Given the description of an element on the screen output the (x, y) to click on. 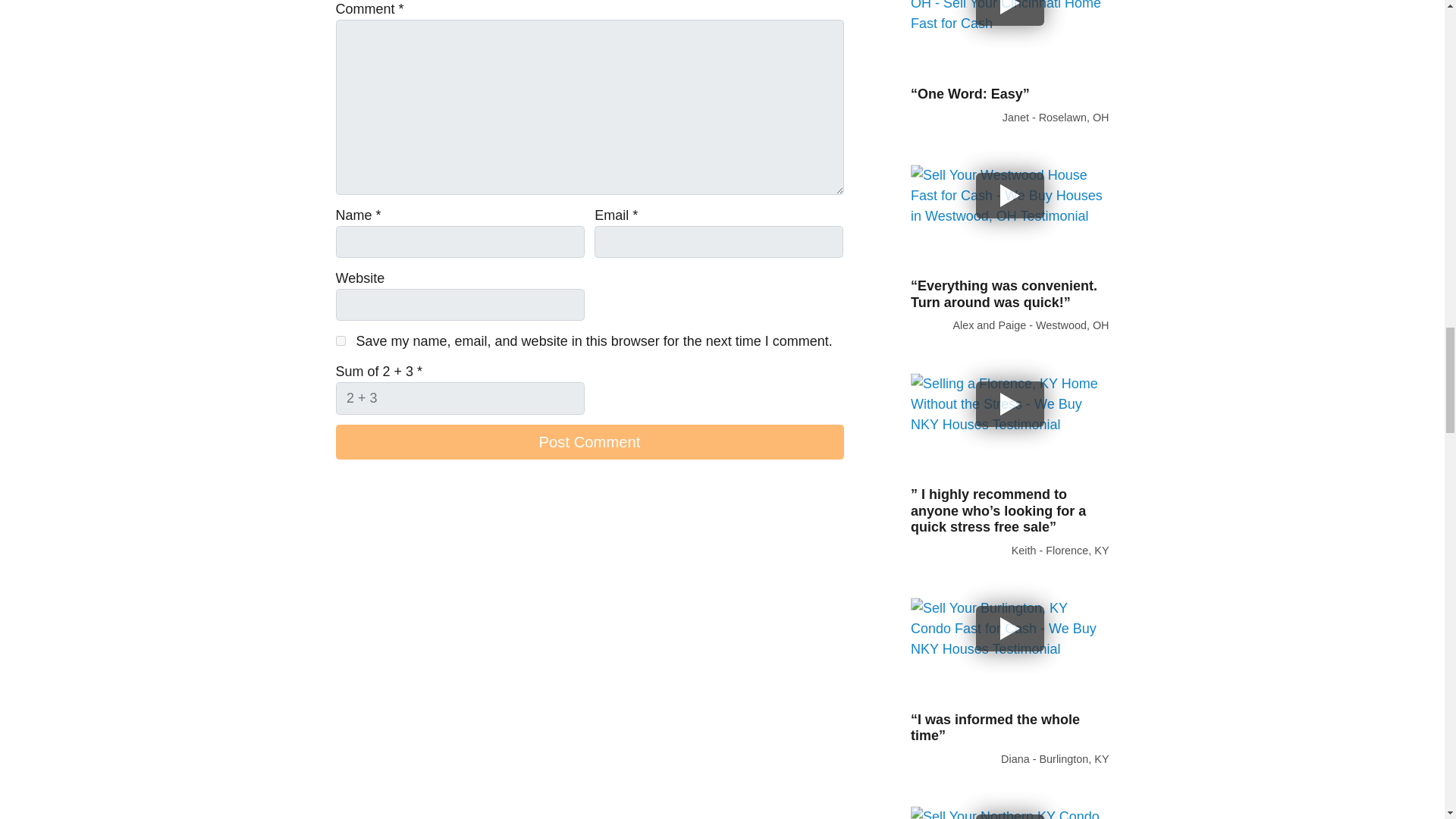
Post Comment (588, 442)
yes (339, 340)
Post Comment (588, 442)
